Given the description of an element on the screen output the (x, y) to click on. 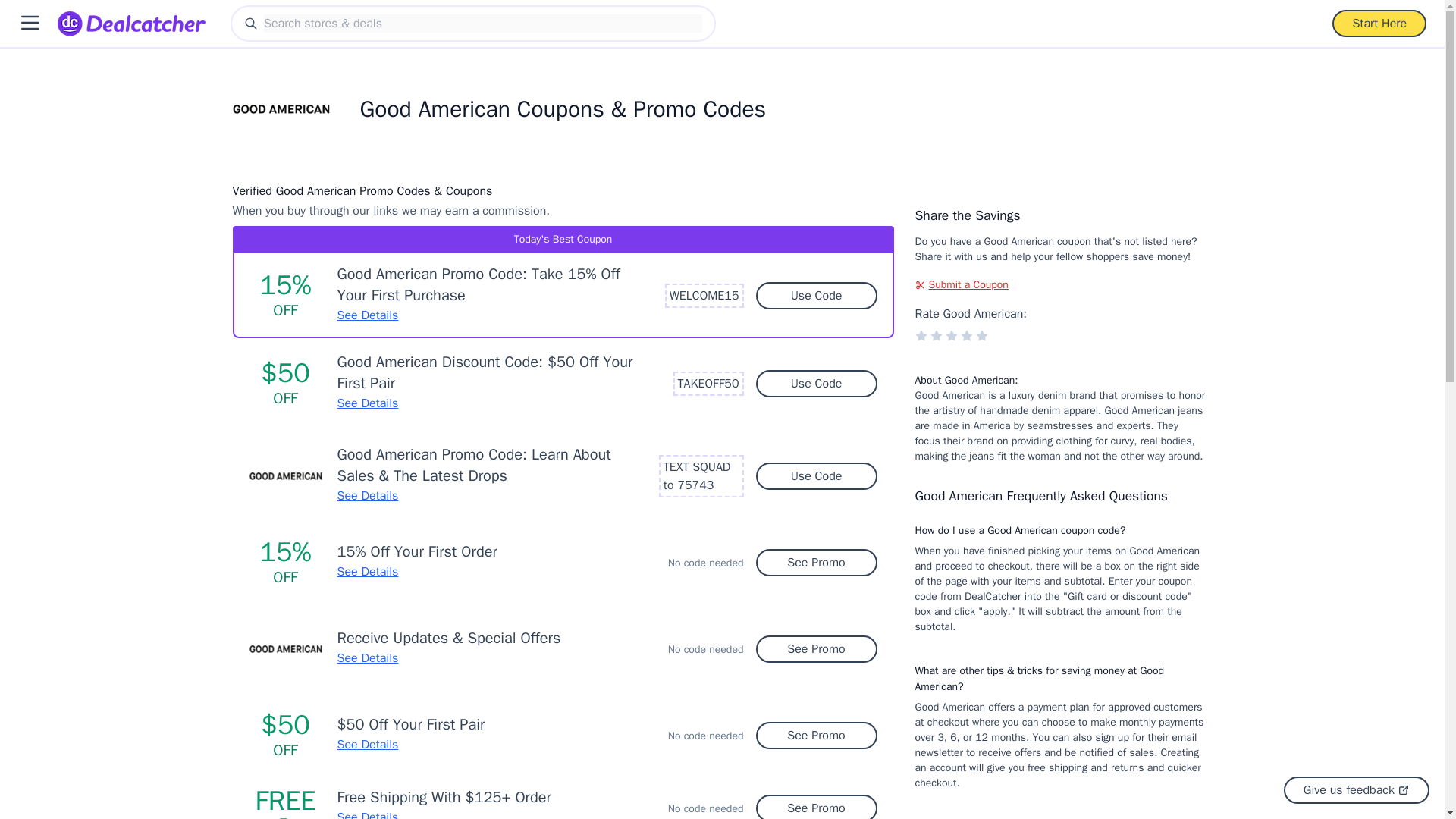
Start Here (1379, 22)
Main Navigation Toggler (29, 23)
Submit a Coupon (1059, 284)
